Given the description of an element on the screen output the (x, y) to click on. 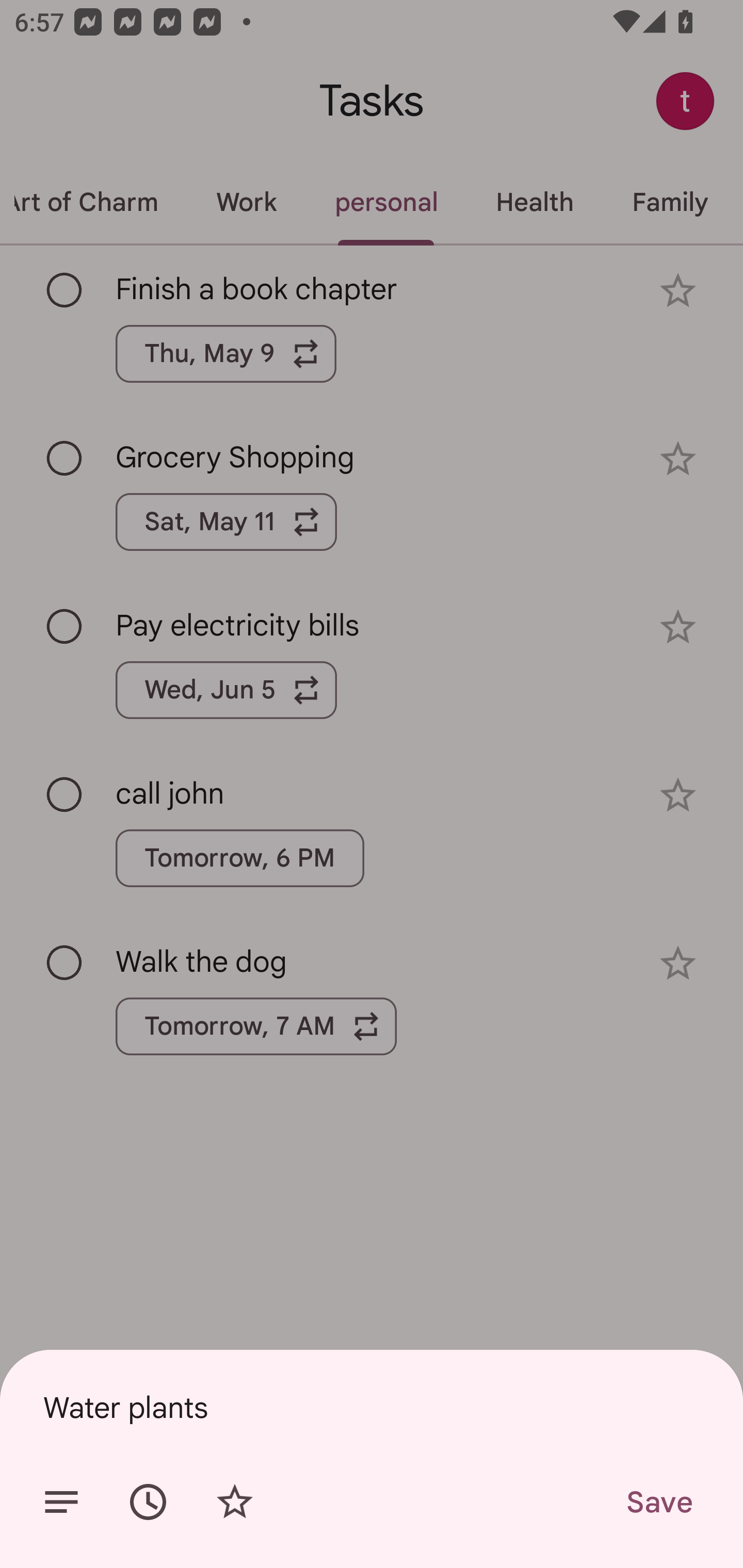
Water plants (371, 1407)
Save (659, 1501)
Add details (60, 1501)
Set date/time (147, 1501)
Add star (234, 1501)
